Given the description of an element on the screen output the (x, y) to click on. 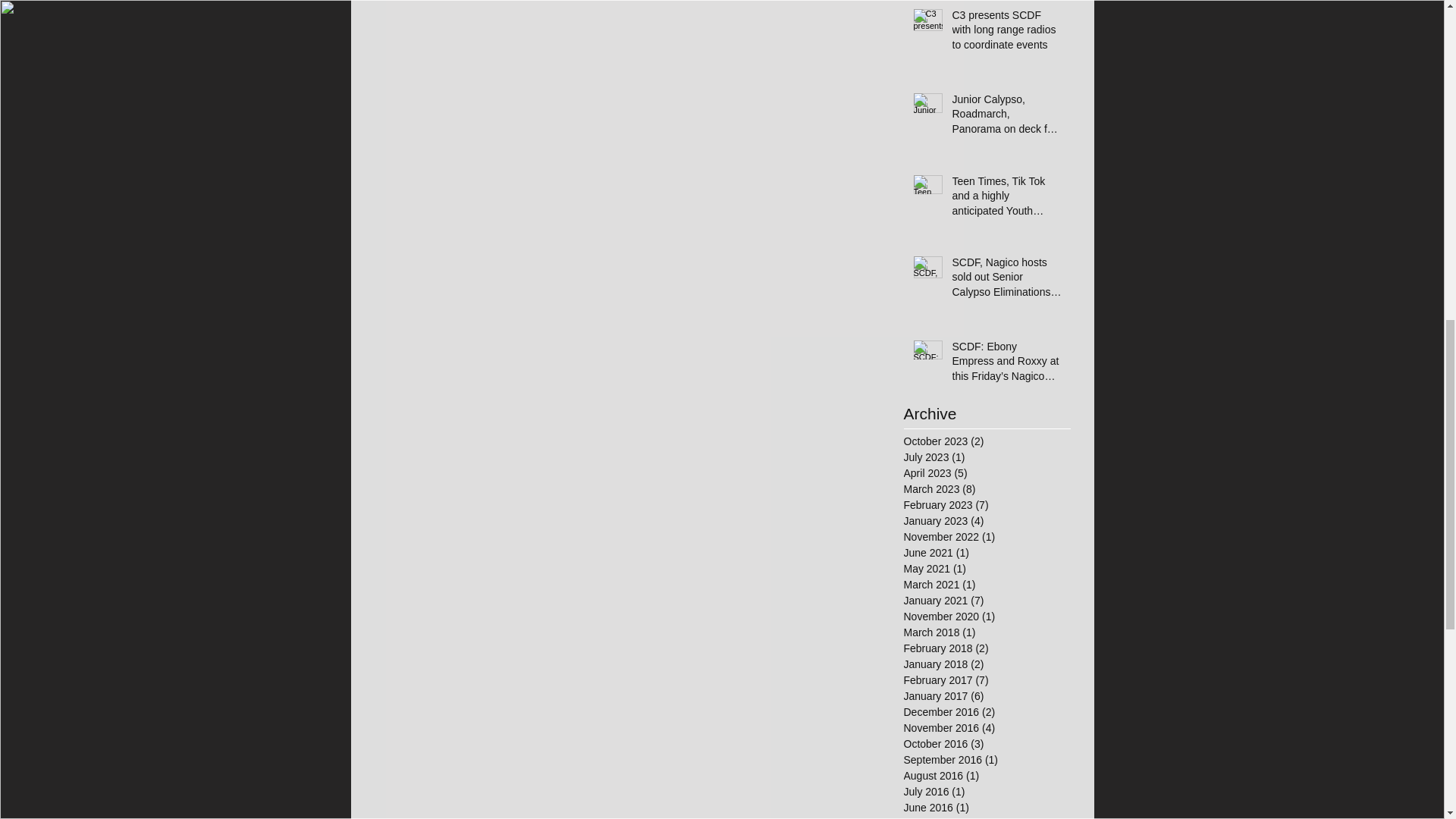
C3 presents SCDF with long range radios to coordinate events (1006, 33)
